Given the description of an element on the screen output the (x, y) to click on. 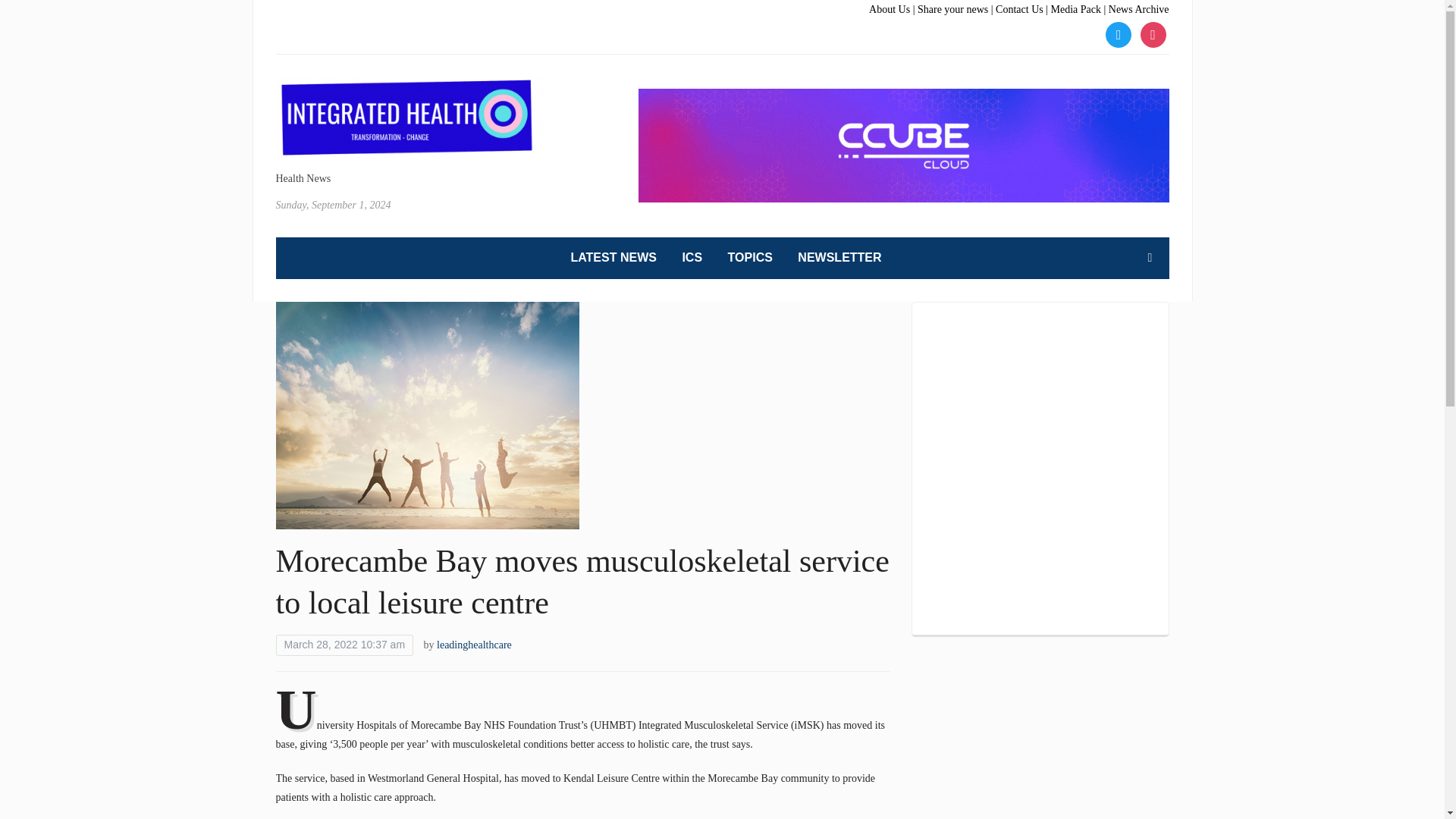
Search (1149, 257)
LATEST NEWS (613, 258)
instagram (1153, 33)
twitter (1118, 33)
TOPICS (750, 258)
News Archive (1138, 9)
ICS (691, 258)
